Given the description of an element on the screen output the (x, y) to click on. 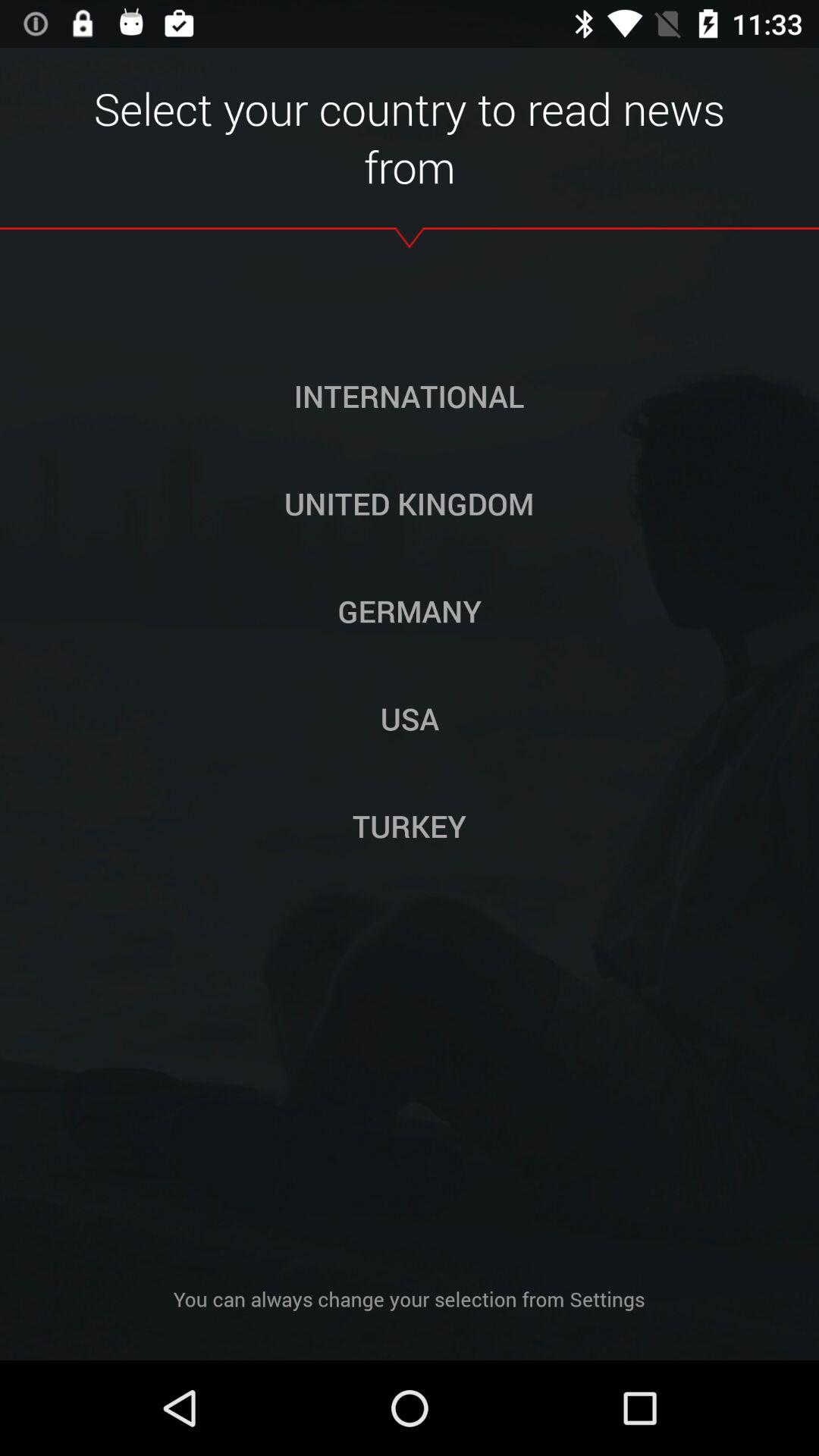
select the united kingdom item (409, 503)
